Given the description of an element on the screen output the (x, y) to click on. 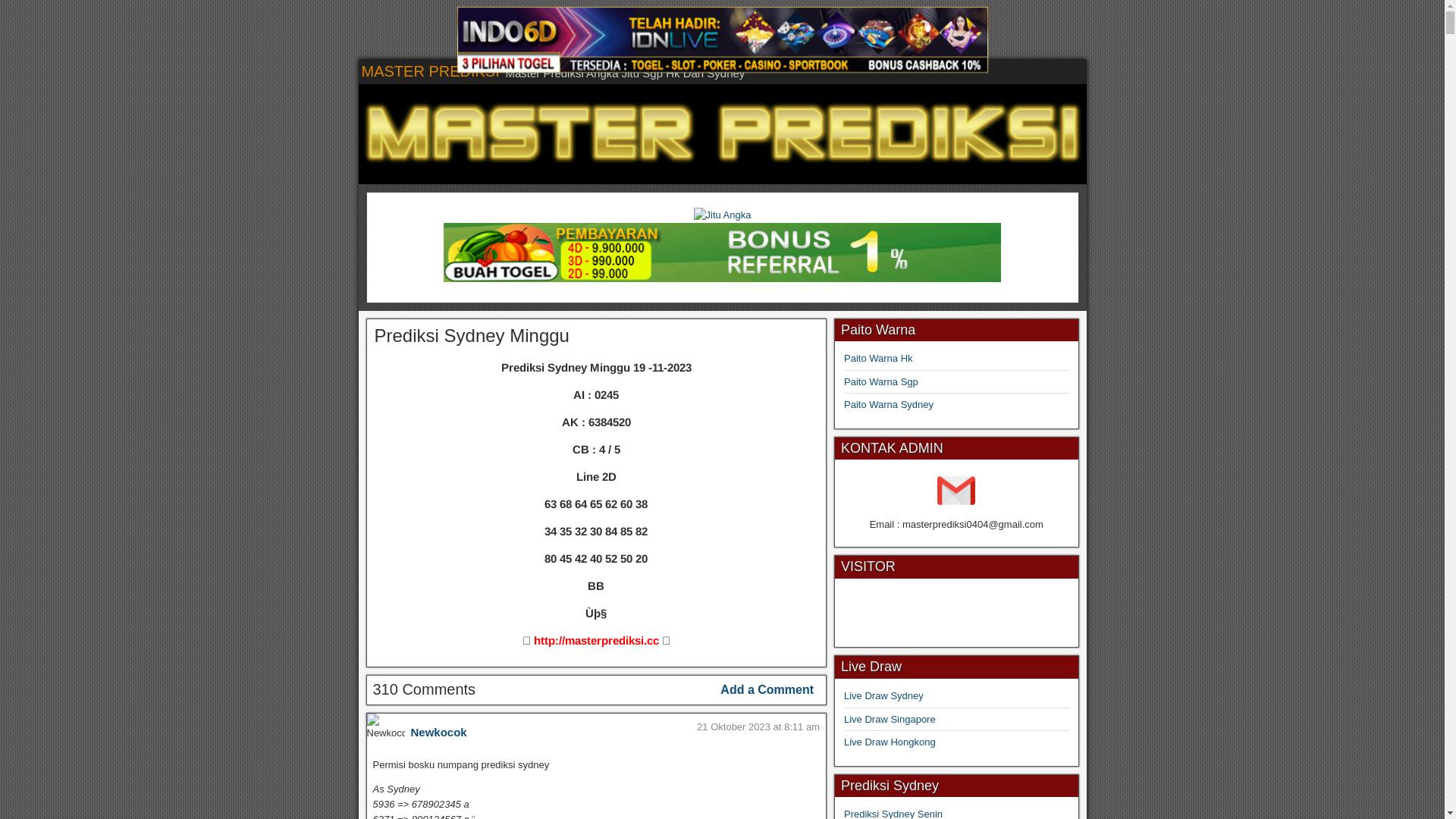
MASTER PREDIKSI Element type: text (429, 70)
Jitu Angka Element type: hover (721, 214)
Live Draw Sydney Element type: text (883, 695)
Live Draw Hongkong Element type: text (889, 741)
Live Draw Singapore Element type: text (889, 718)
Paito Warna Hk Element type: text (878, 358)
Newkocok Element type: text (439, 731)
21 Oktober 2023 at 8:11 am Element type: text (757, 726)
Paito Warna Sydney Element type: text (888, 404)
Prediksi Sydney Minggu Element type: text (471, 335)
Add a Comment Element type: text (766, 689)
INDO6D Element type: hover (722, 39)
Paito Warna Sgp Element type: text (881, 381)
Buah togel Element type: hover (722, 279)
